Given the description of an element on the screen output the (x, y) to click on. 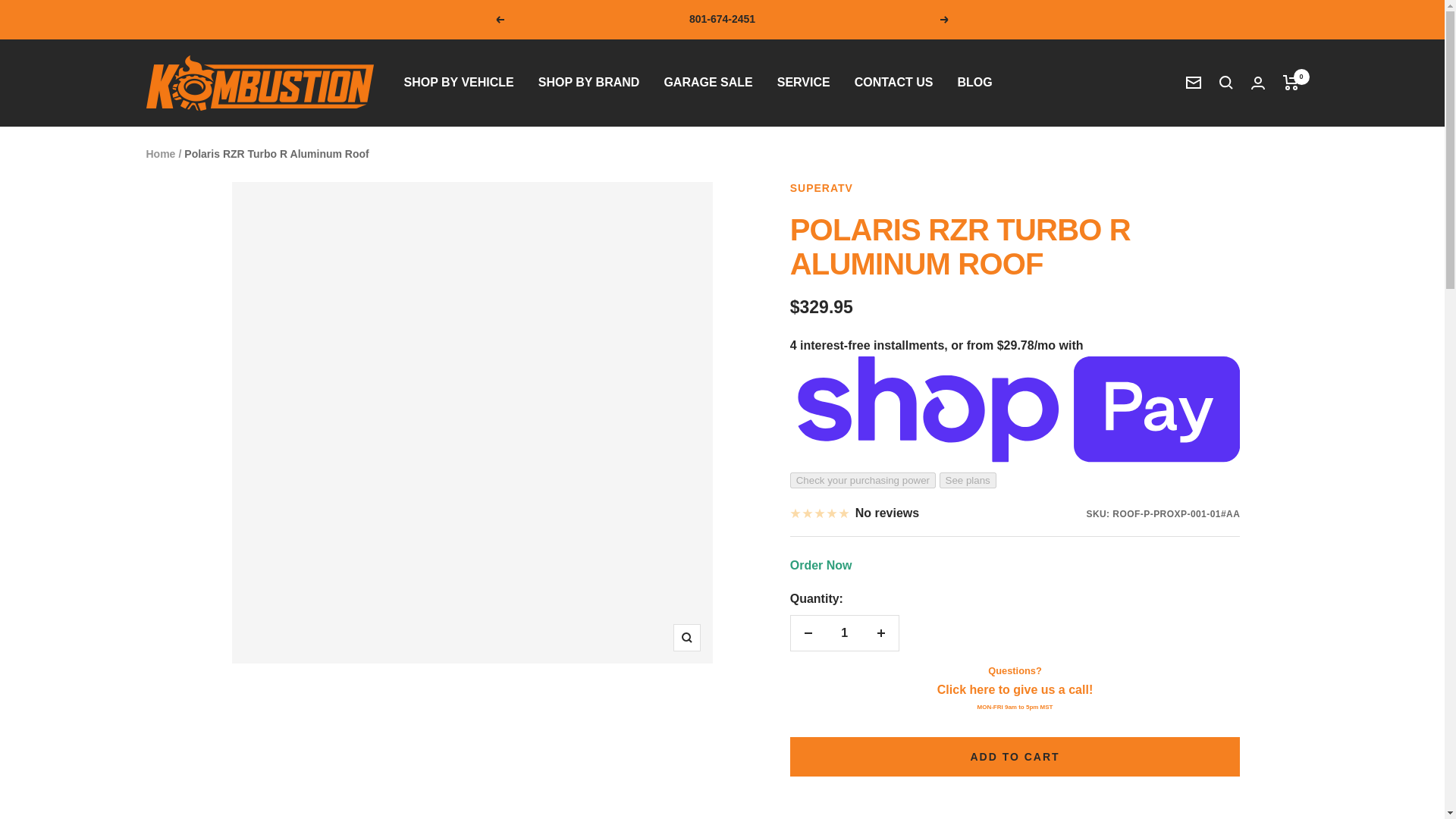
GARAGE SALE (707, 83)
Next (944, 19)
CONTACT US (893, 83)
1 (844, 632)
SERVICE (803, 83)
SHOP BY VEHICLE (458, 83)
Newsletter (1193, 82)
0 (1290, 83)
BLOG (973, 83)
Kombustion Motorsports (258, 82)
SHOP BY BRAND (589, 83)
Previous (499, 19)
